Given the description of an element on the screen output the (x, y) to click on. 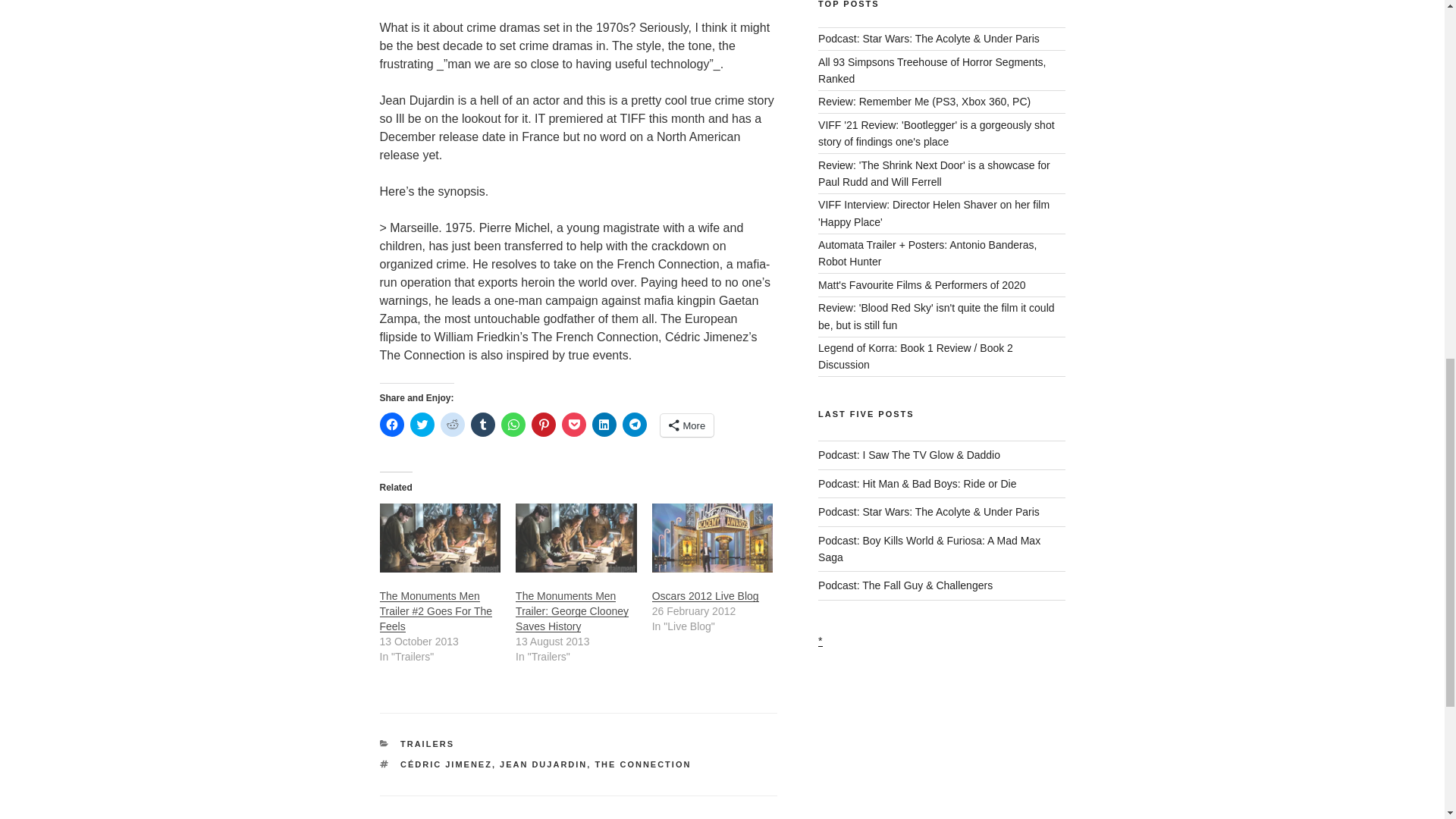
Click to share on Telegram (633, 424)
Click to share on WhatsApp (512, 424)
THE CONNECTION (642, 764)
Click to share on Reddit (451, 424)
JEAN DUJARDIN (542, 764)
Click to share on Pinterest (542, 424)
Oscars 2012 Live Blog (705, 595)
The Monuments Men Trailer: George Clooney Saves History (571, 610)
The Monuments Men Trailer: George Clooney Saves History (576, 537)
Click to share on Twitter (421, 424)
More (686, 425)
Click to share on Tumblr (482, 424)
The Monuments Men Trailer: George Clooney Saves History (571, 610)
Click to share on Facebook (390, 424)
Click to share on Pocket (572, 424)
